Given the description of an element on the screen output the (x, y) to click on. 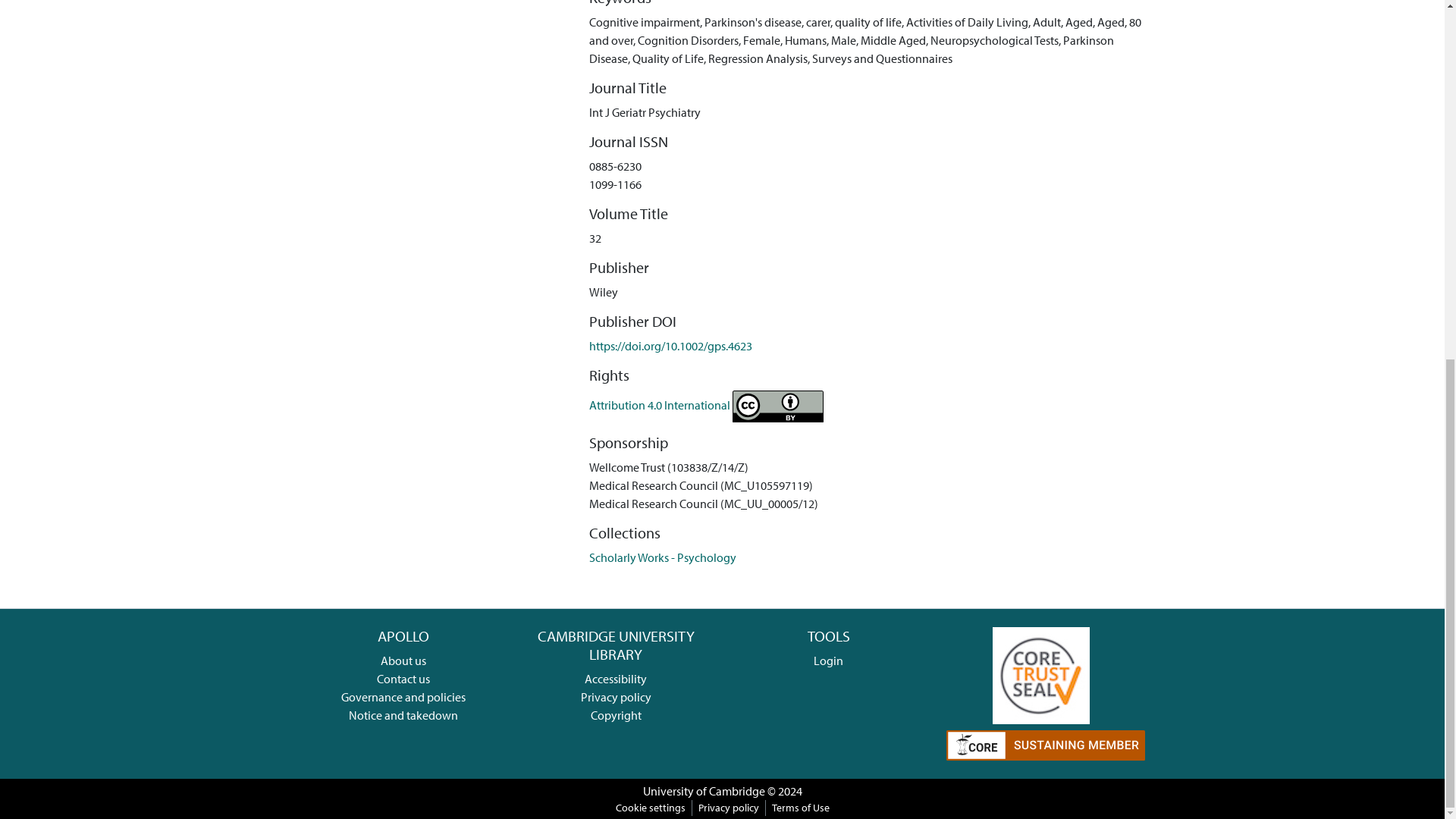
Contact us (403, 678)
Attribution 4.0 International (706, 404)
Notice and takedown (403, 714)
About us (403, 660)
Scholarly Works - Psychology (662, 557)
Accessibility (615, 678)
Apollo CTS full application (1040, 673)
Governance and policies (402, 696)
